Given the description of an element on the screen output the (x, y) to click on. 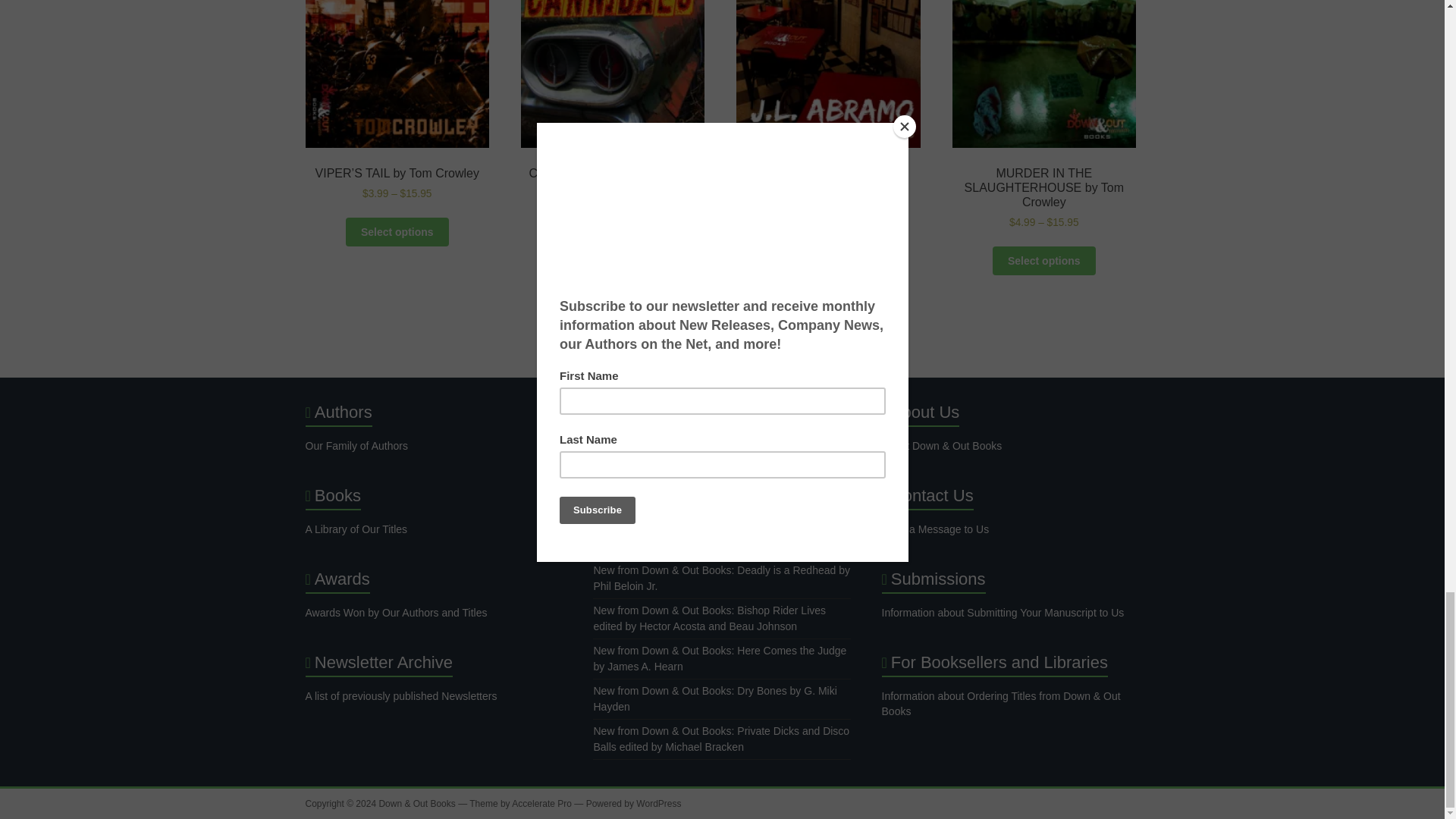
Accelerate Pro (542, 803)
WordPress (658, 803)
